Given the description of an element on the screen output the (x, y) to click on. 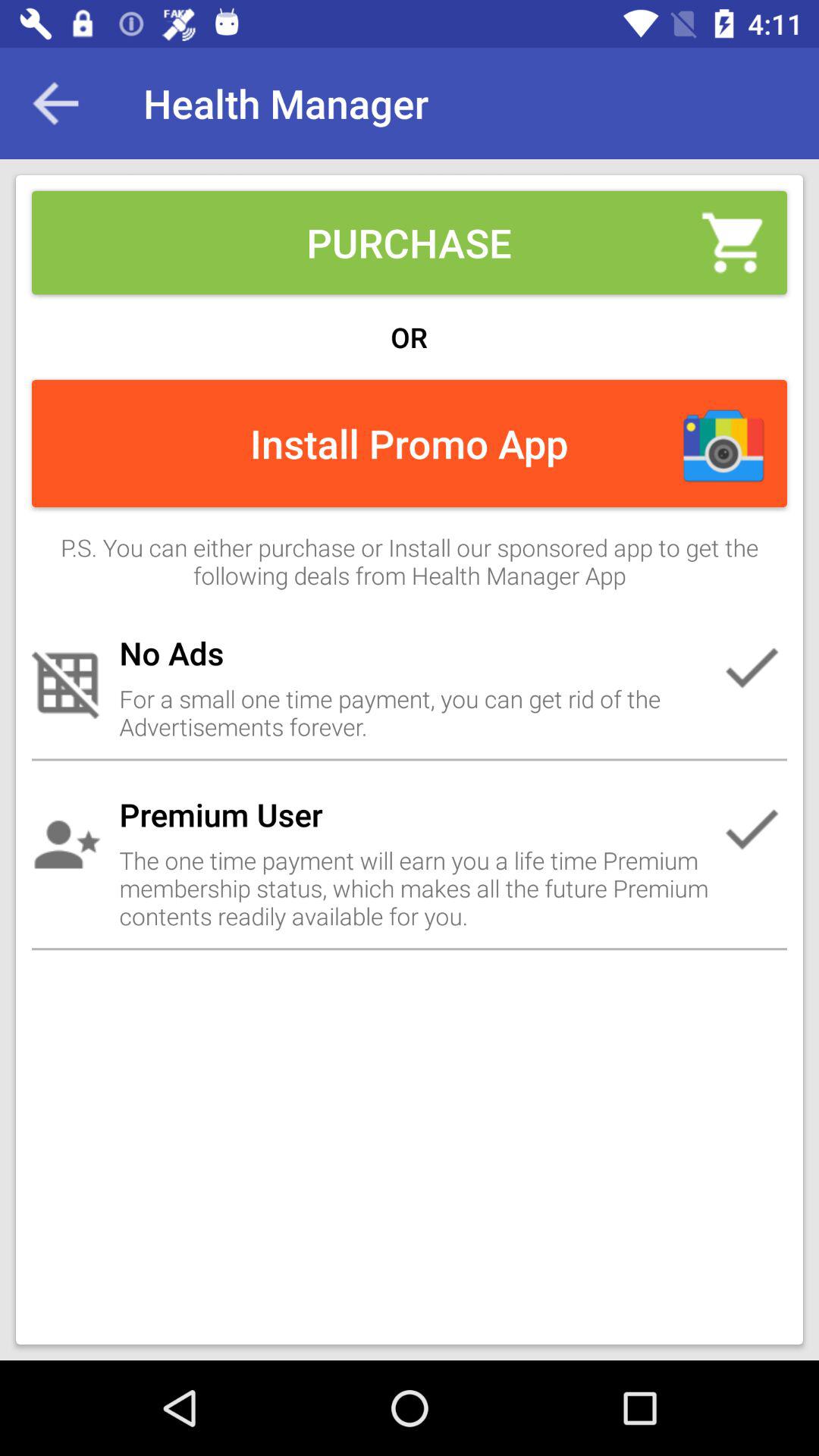
choose item at the top left corner (55, 103)
